Given the description of an element on the screen output the (x, y) to click on. 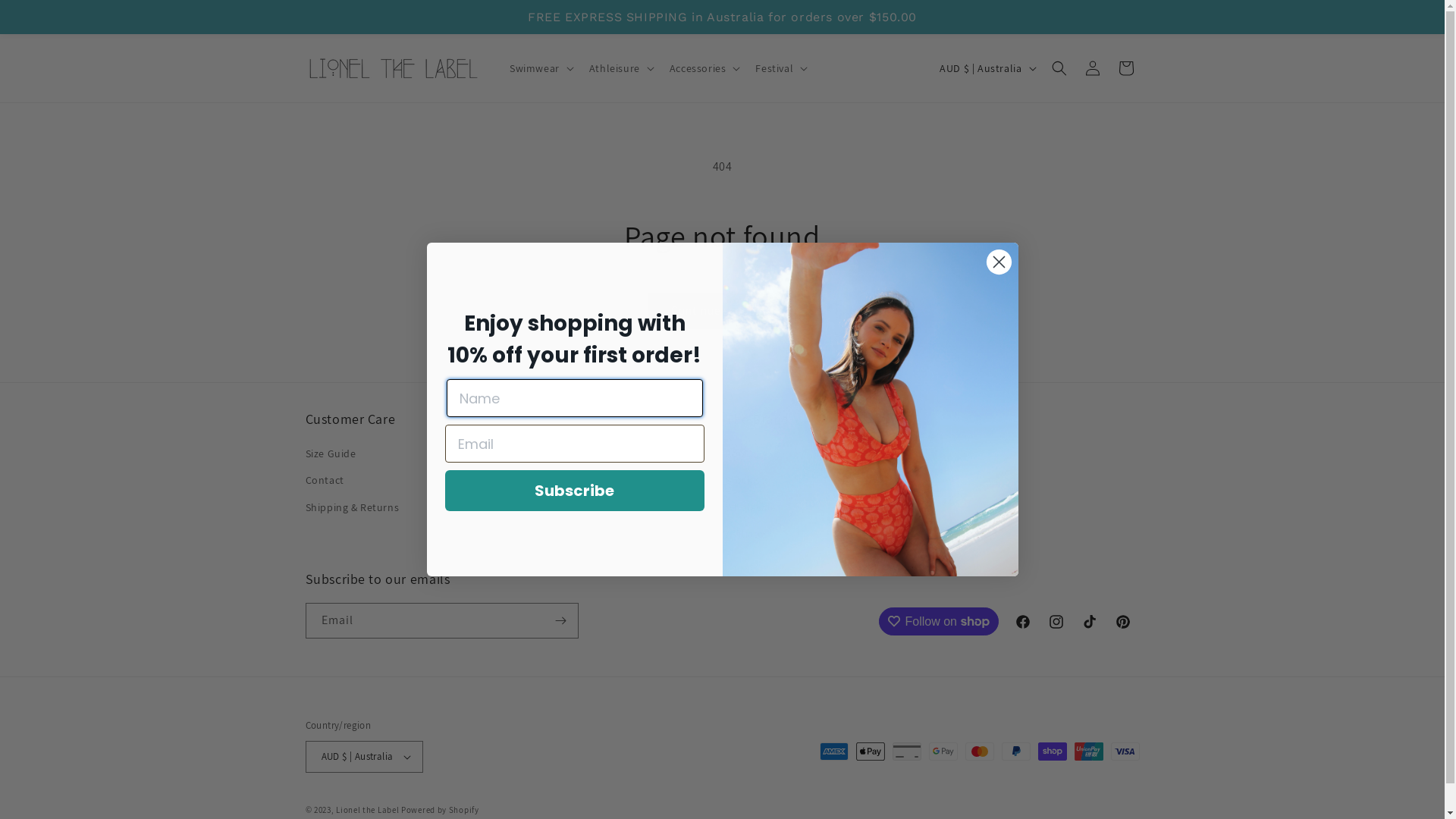
Log in Element type: text (1091, 67)
Lionel the Label Element type: text (368, 809)
TikTok Element type: text (1088, 621)
About Element type: text (739, 455)
AUD $ | Australia Element type: text (985, 67)
Wholesale Element type: text (749, 507)
Contact Element type: text (323, 480)
Cart Element type: text (1125, 67)
AUD $ | Australia Element type: text (363, 756)
Size Guide Element type: text (329, 455)
Shipping & Returns Element type: text (351, 507)
Affiliates Element type: text (746, 533)
Powered by Shopify Element type: text (440, 809)
Stockists Element type: text (746, 480)
Continue shopping Element type: text (722, 311)
Facebook Element type: text (1021, 621)
Pinterest Element type: text (1122, 621)
Instagram Element type: text (1055, 621)
